Given the description of an element on the screen output the (x, y) to click on. 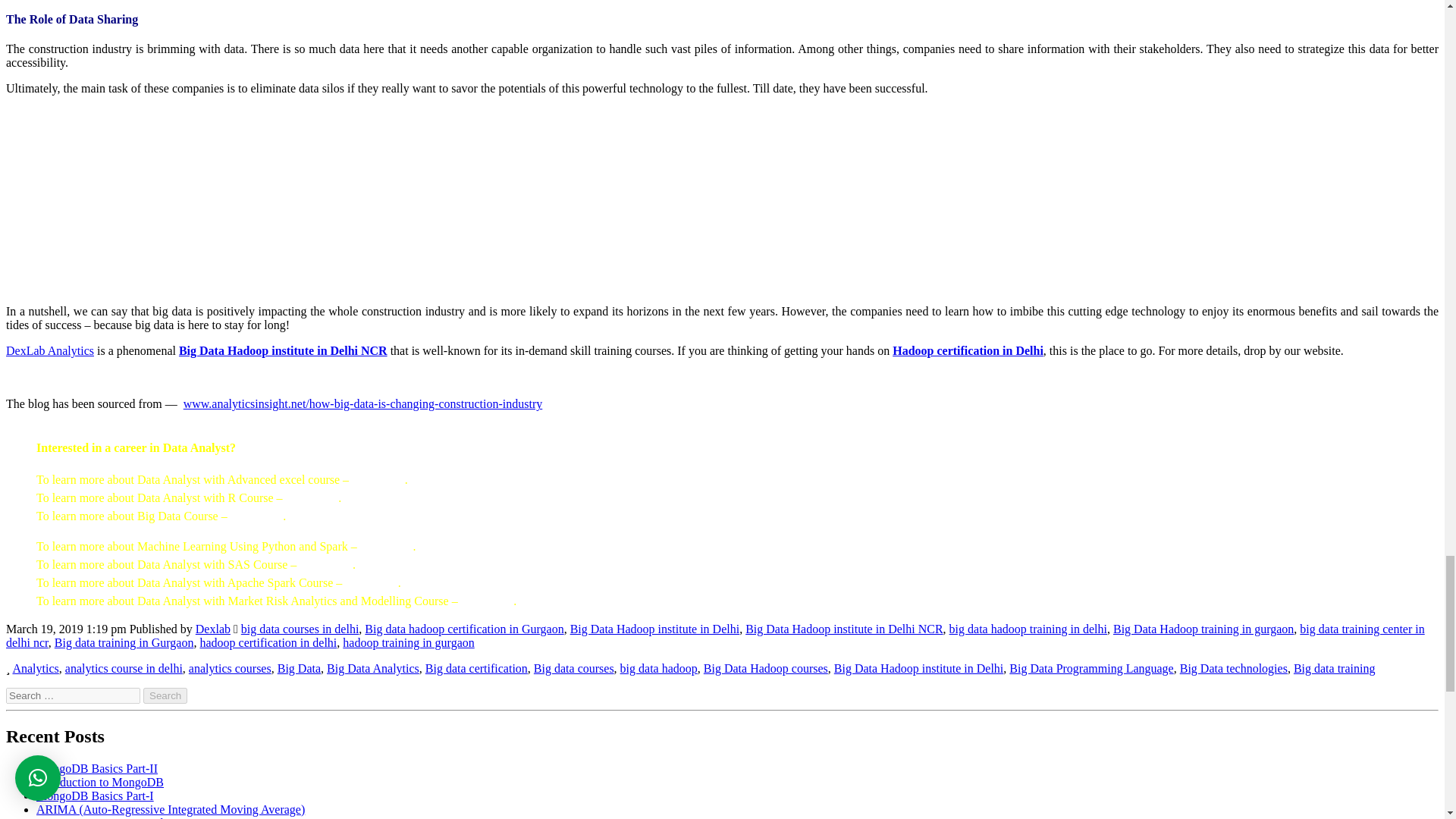
Posts by Dexlab (212, 628)
Search (164, 695)
DexLab Analytics (49, 350)
Big Data Hadoop institute in Delhi NCR (283, 350)
Hadoop certification in Delhi (967, 350)
Search (164, 695)
Enrol Now (378, 479)
